Given the description of an element on the screen output the (x, y) to click on. 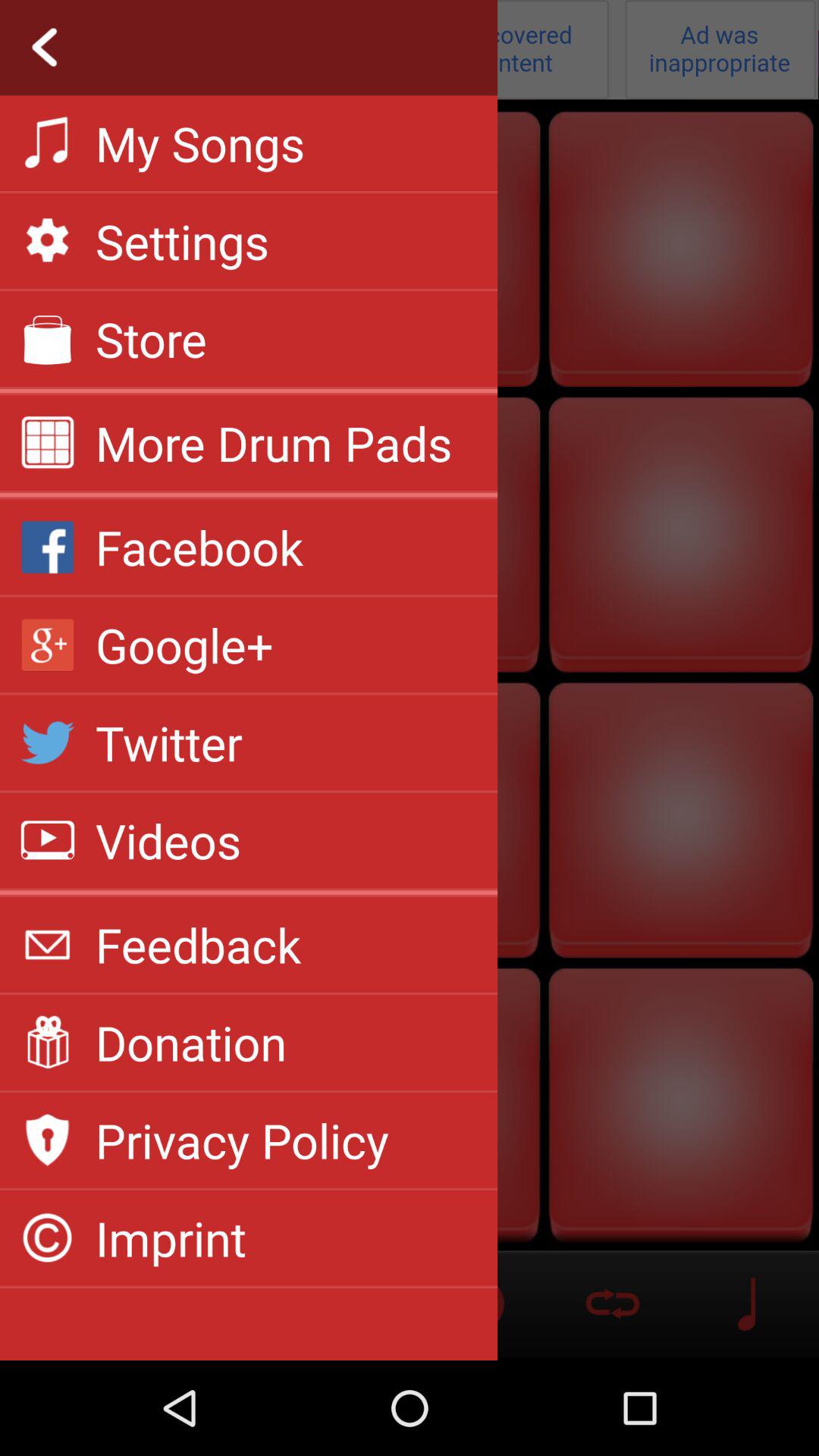
open the store item (151, 338)
